Given the description of an element on the screen output the (x, y) to click on. 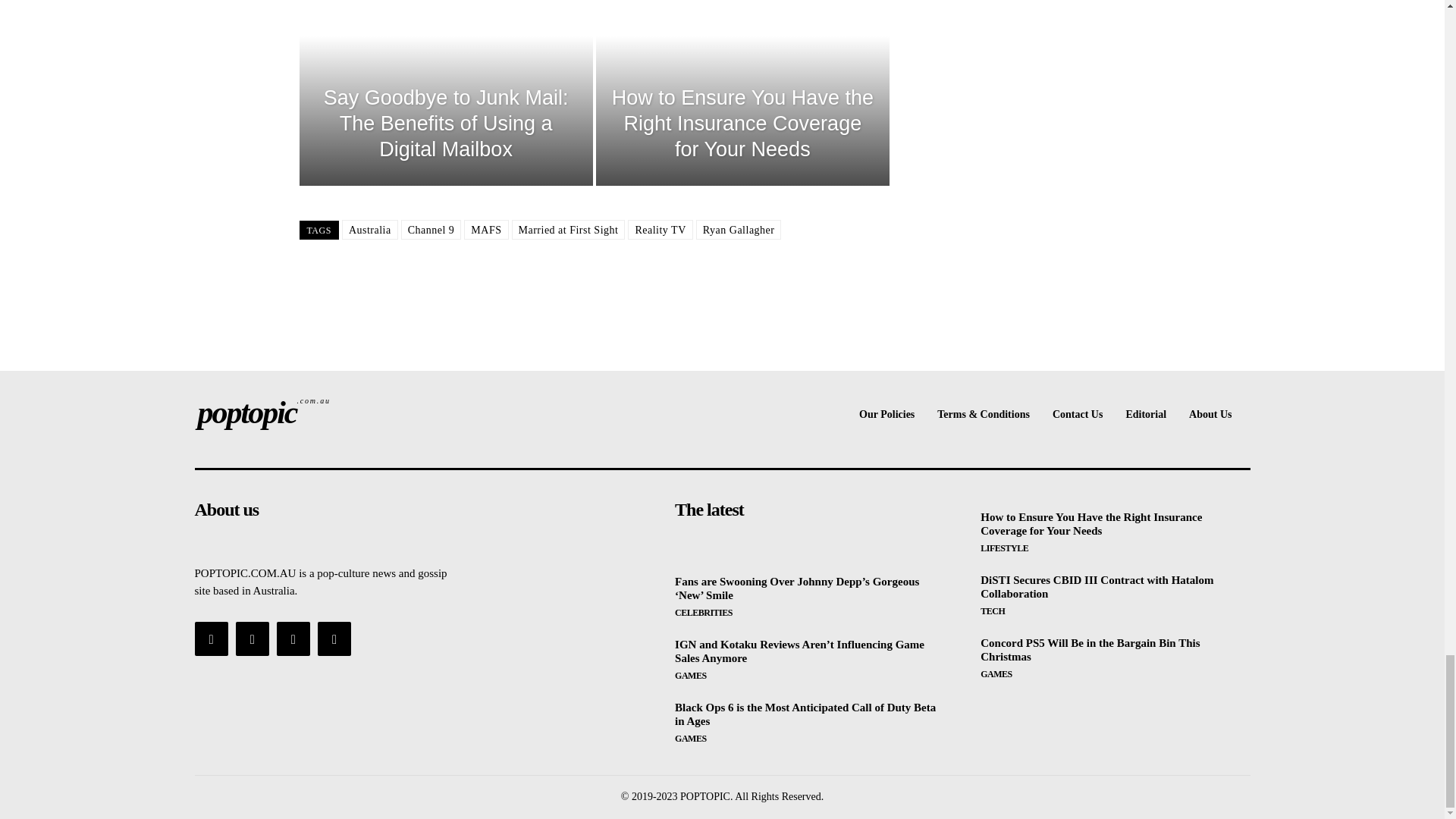
Australia (369, 229)
Channel 9 (431, 229)
POPTOPIC (317, 412)
MAFS (486, 229)
Reality TV (660, 229)
Twitter (293, 638)
